Given the description of an element on the screen output the (x, y) to click on. 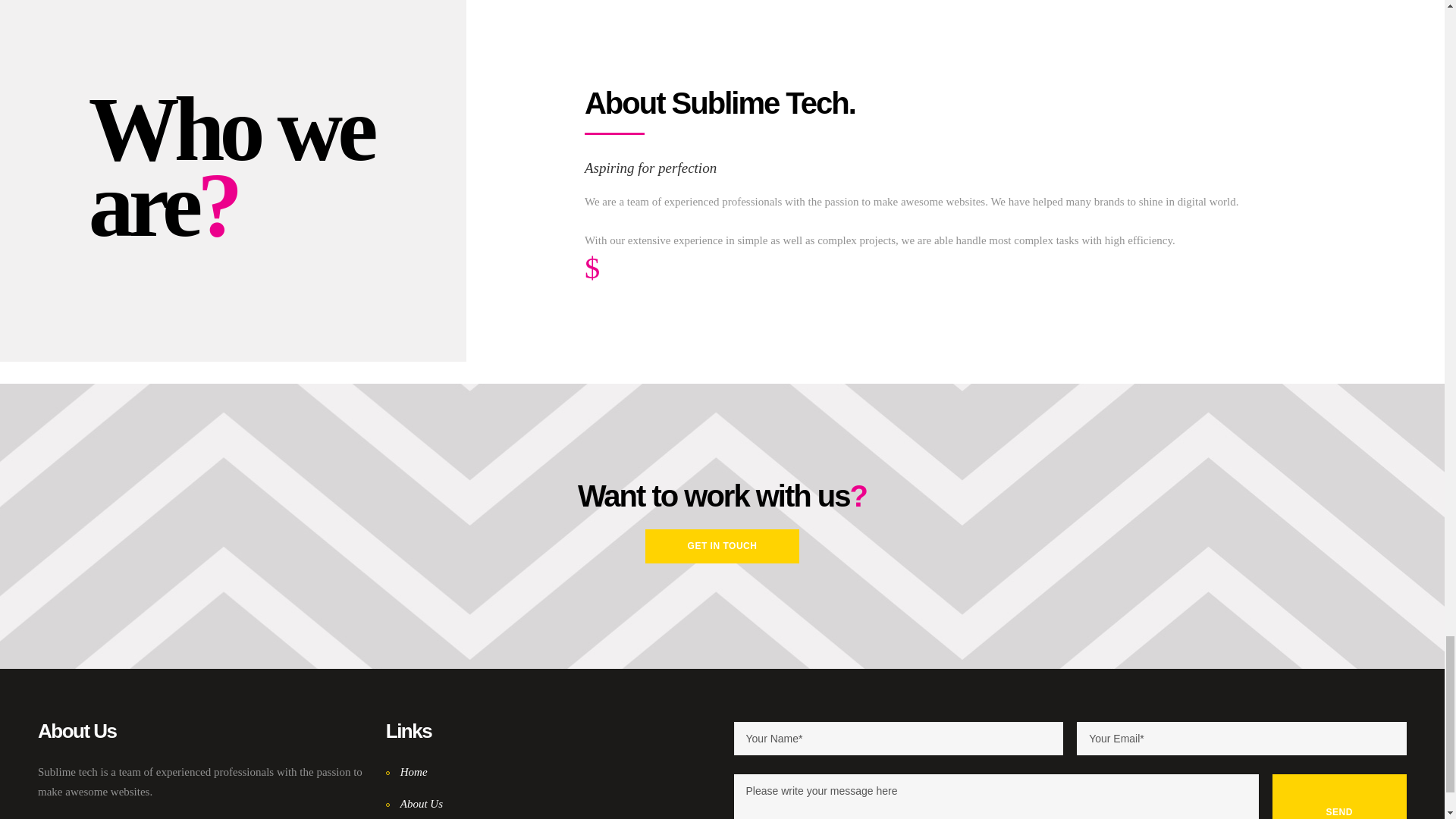
About Us (413, 803)
Send (1339, 796)
Send (1339, 796)
Home (406, 771)
GET IN TOUCH (722, 546)
